Given the description of an element on the screen output the (x, y) to click on. 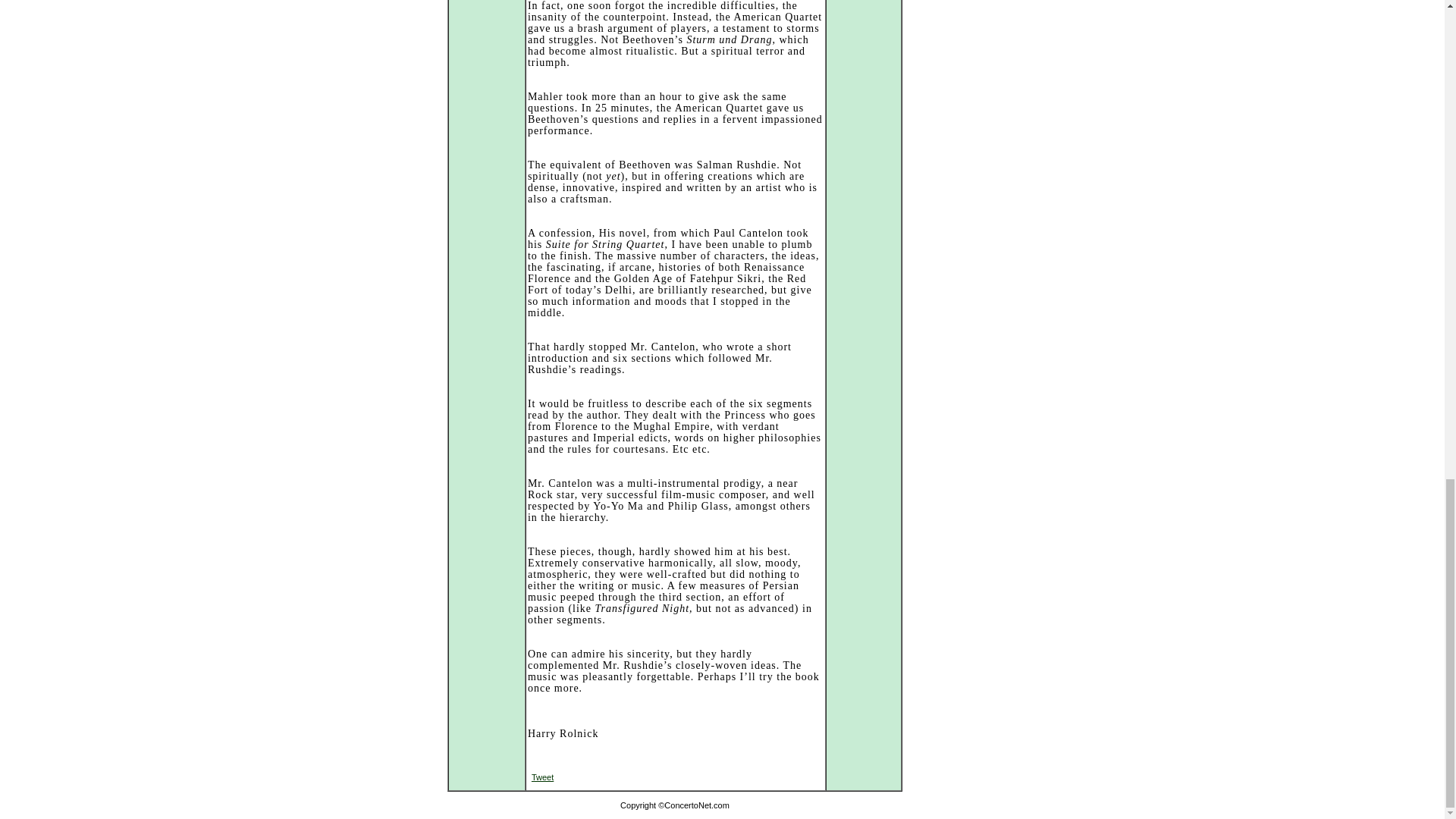
Tweet (542, 777)
